Given the description of an element on the screen output the (x, y) to click on. 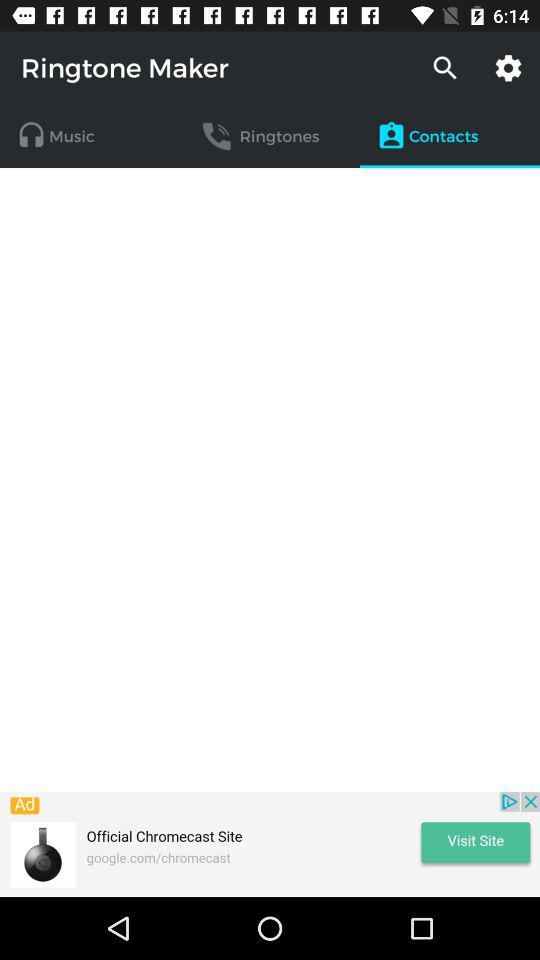
visit site (270, 844)
